Given the description of an element on the screen output the (x, y) to click on. 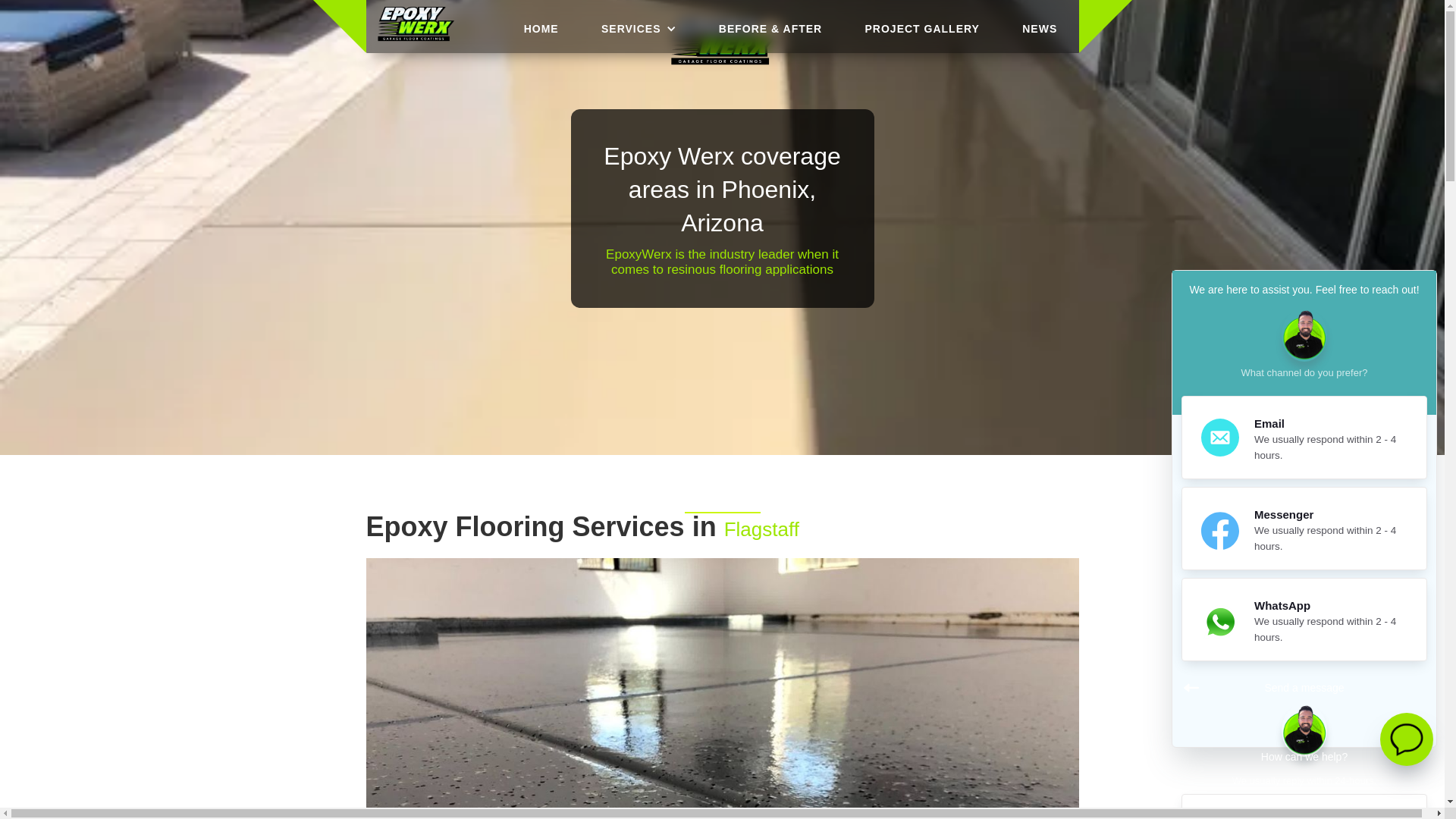
mail50 (1220, 437)
NEWS (1039, 26)
HOME (540, 26)
PROJECT GALLERY (922, 26)
